Given the description of an element on the screen output the (x, y) to click on. 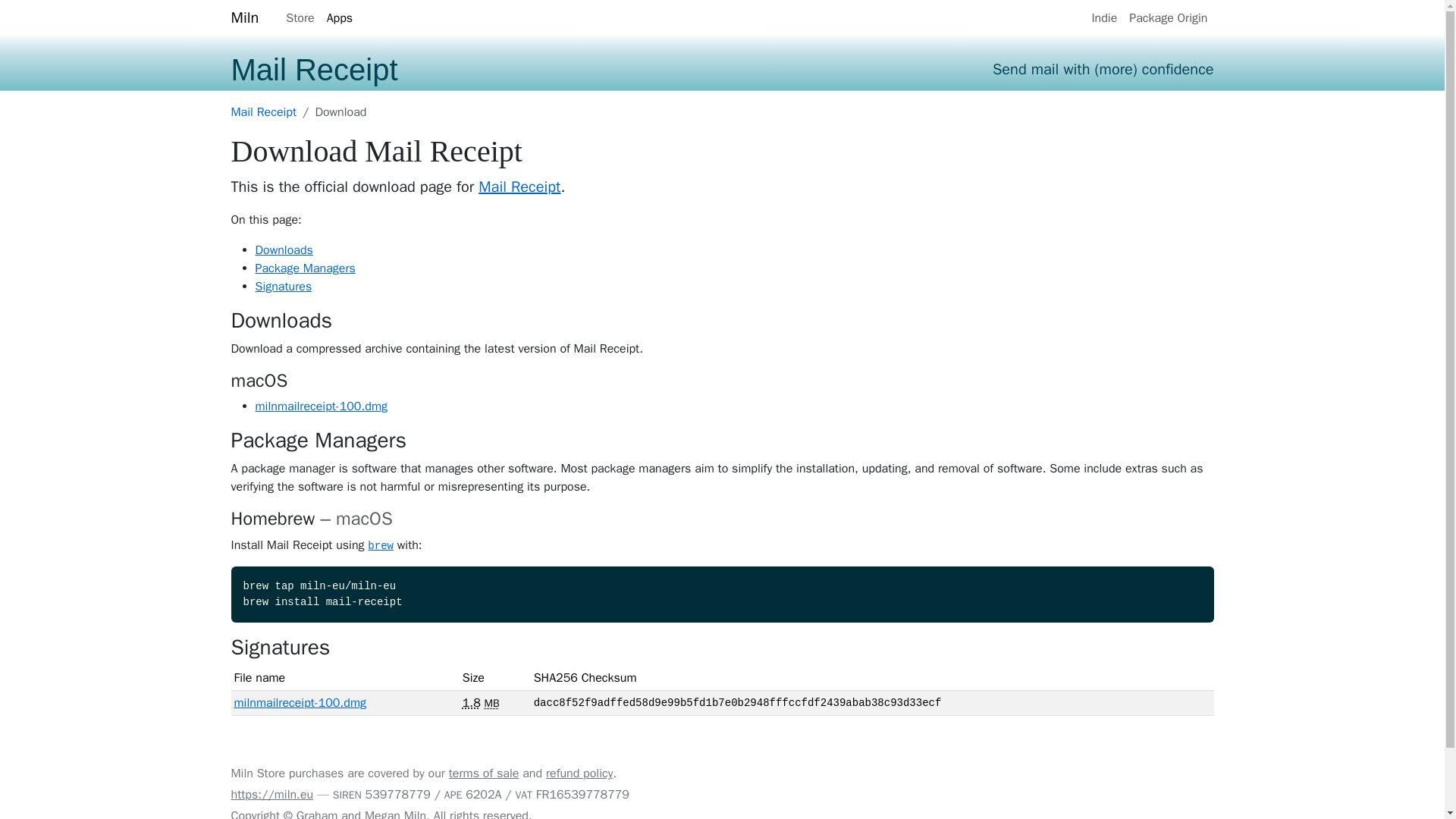
Downloads (283, 249)
Mail Receipt (263, 111)
Store (299, 18)
Mail Receipt (313, 69)
Mail Receipt (519, 186)
milnmailreceipt-100.dmg (320, 406)
Miln (244, 18)
Signatures (282, 286)
Mail Receipt (263, 111)
MegaBytes (491, 703)
